Given the description of an element on the screen output the (x, y) to click on. 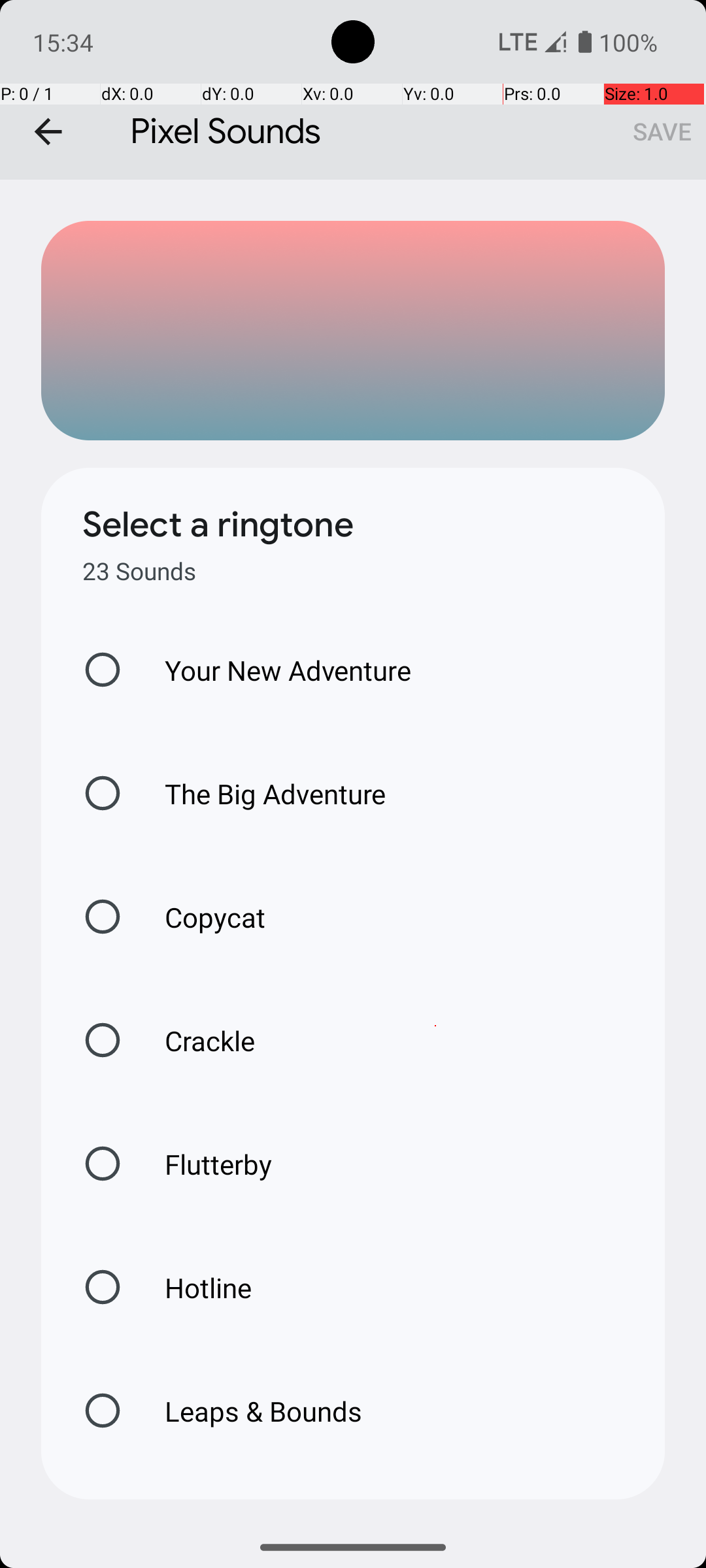
Pixel Sounds Element type: android.widget.FrameLayout (353, 89)
Select a ringtone Element type: android.widget.TextView (217, 524)
23 Sounds Element type: android.widget.TextView (139, 570)
Your New Adventure Element type: android.widget.TextView (274, 669)
The Big Adventure Element type: android.widget.TextView (261, 793)
Copycat Element type: android.widget.TextView (201, 916)
Crackle Element type: android.widget.TextView (196, 1040)
Flutterby Element type: android.widget.TextView (204, 1163)
Hotline Element type: android.widget.TextView (194, 1287)
Leaps & Bounds Element type: android.widget.TextView (249, 1410)
